Given the description of an element on the screen output the (x, y) to click on. 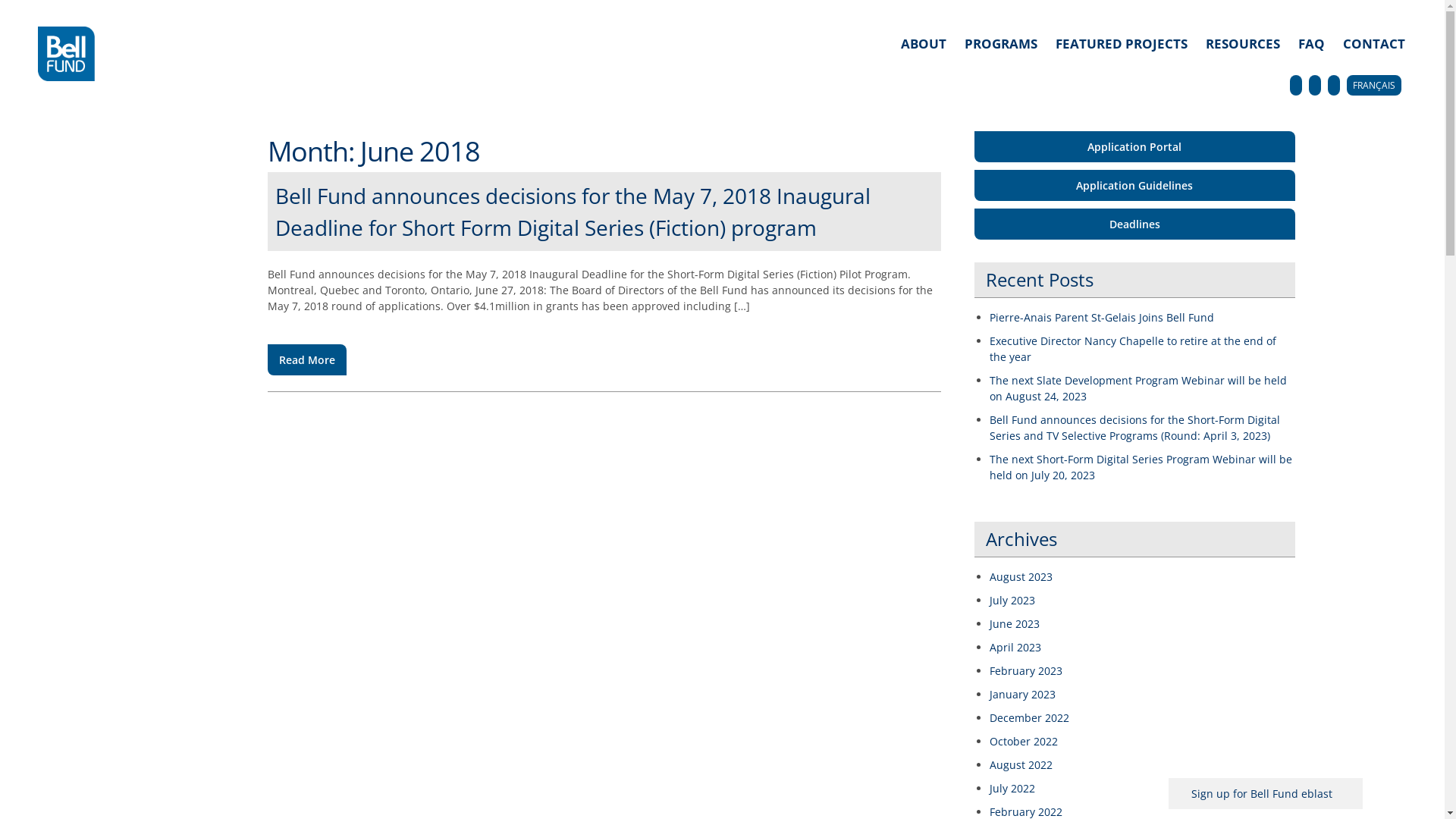
CONTACT Element type: text (1374, 43)
January 2023 Element type: text (1022, 694)
FAQ Element type: text (1311, 43)
June 2023 Element type: text (1014, 622)
FEATURED PROJECTS Element type: text (1121, 43)
August 2022 Element type: text (1020, 763)
Read More Element type: text (305, 359)
Application Guidelines Element type: text (1134, 184)
Sign up for Bell Fund eblast Element type: text (1265, 793)
December 2022 Element type: text (1029, 716)
April 2023 Element type: text (1015, 647)
Deadlines Element type: text (1134, 222)
July 2022 Element type: text (1012, 788)
Pierre-Anais Parent St-Gelais Joins Bell Fund Element type: text (1101, 316)
October 2022 Element type: text (1023, 741)
PROGRAMS Element type: text (1000, 43)
February 2023 Element type: text (1025, 669)
July 2023 Element type: text (1012, 600)
August 2023 Element type: text (1020, 575)
RESOURCES Element type: text (1242, 43)
ABOUT Element type: text (923, 43)
February 2022 Element type: text (1025, 810)
Application Portal Element type: text (1134, 145)
